Given the description of an element on the screen output the (x, y) to click on. 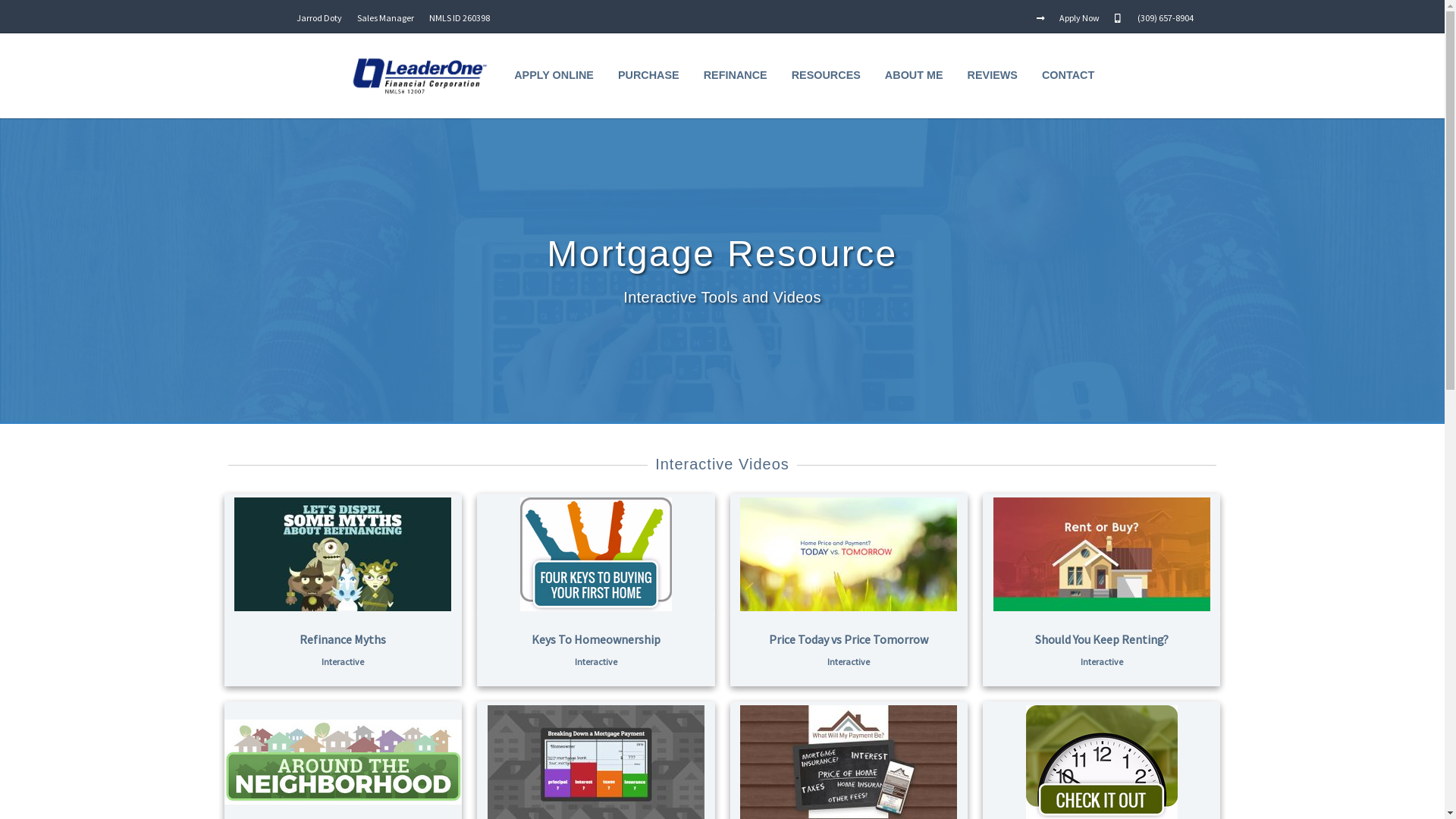
RESOURCES Element type: text (825, 75)
REVIEWS Element type: text (992, 75)
(309) 657-8904 Element type: text (1164, 17)
REFINANCE Element type: text (735, 75)
CONTACT Element type: text (1067, 75)
Apply Now Element type: text (1079, 17)
PURCHASE Element type: text (648, 75)
APPLY ONLINE Element type: text (553, 75)
ABOUT ME Element type: text (913, 75)
